Given the description of an element on the screen output the (x, y) to click on. 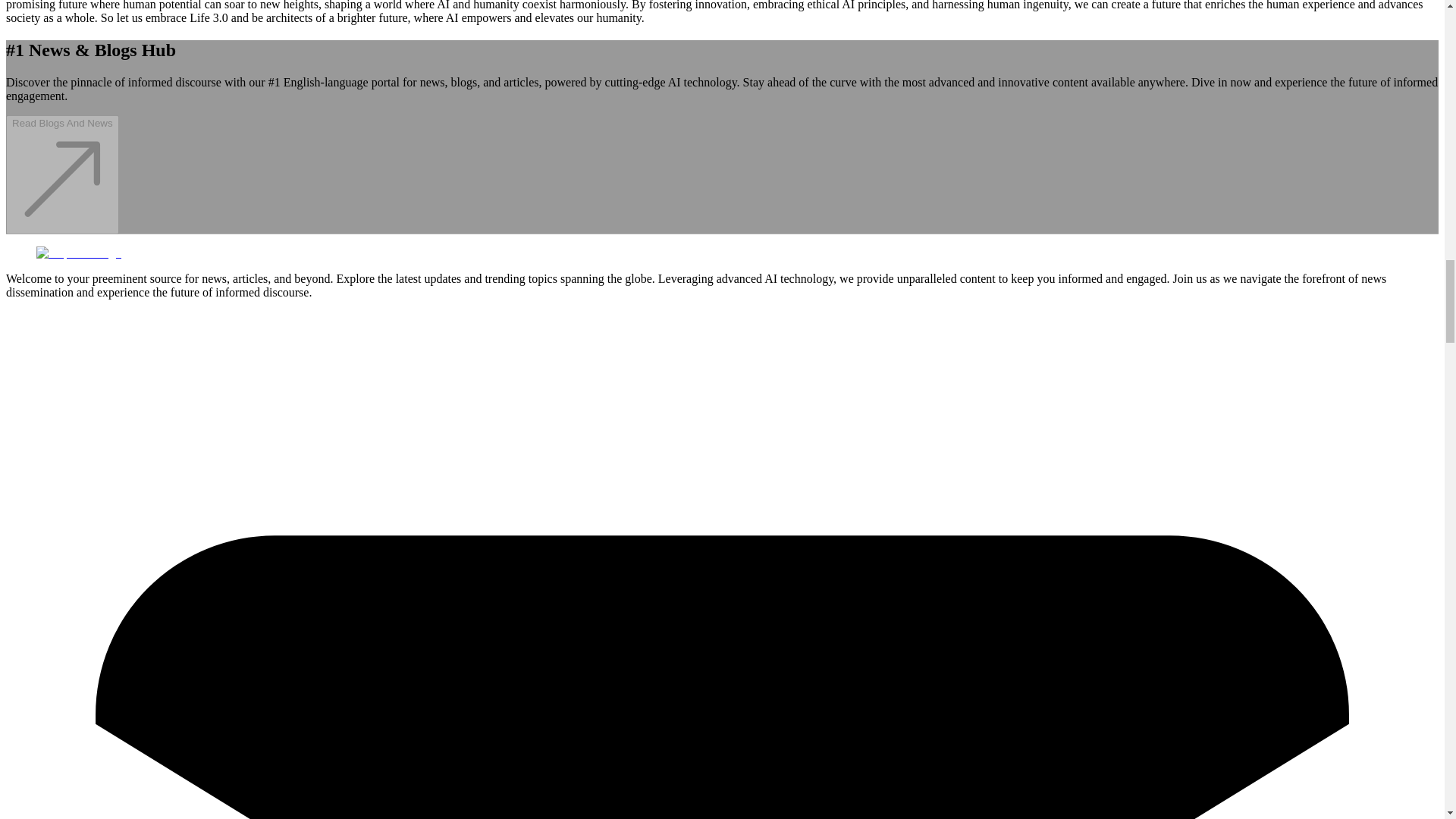
Roy Plus Logo (78, 253)
Read Blogs And News (62, 174)
Read Blogs And News (62, 225)
Read Blogs And News (62, 225)
